Given the description of an element on the screen output the (x, y) to click on. 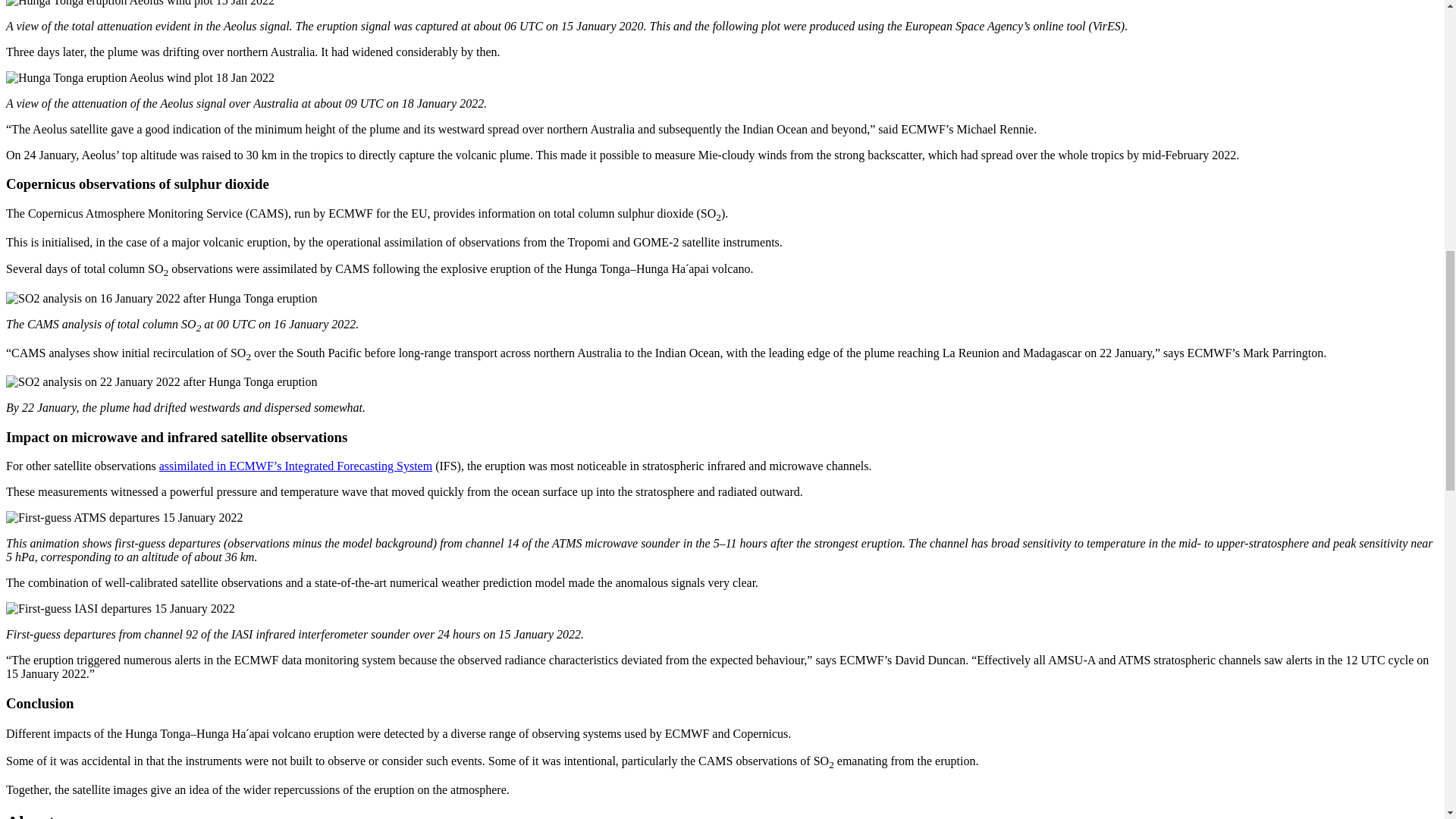
Hunga Tonga eruption Aeolus wind plot 15 Jan 2022 (140, 3)
SO2 analysis on 16 January 2022 after Hunga Tonga eruption (161, 297)
SO2 analysis on 22 January 2022 after Hunga Tonga eruption (161, 382)
First-guess IASI departures 15 January 2022 (119, 608)
Hunga Tonga eruption Aeolus wind plot 18 Jan 2022 (140, 78)
First-guess ATMS departures 15 January 2022 (124, 517)
